Given the description of an element on the screen output the (x, y) to click on. 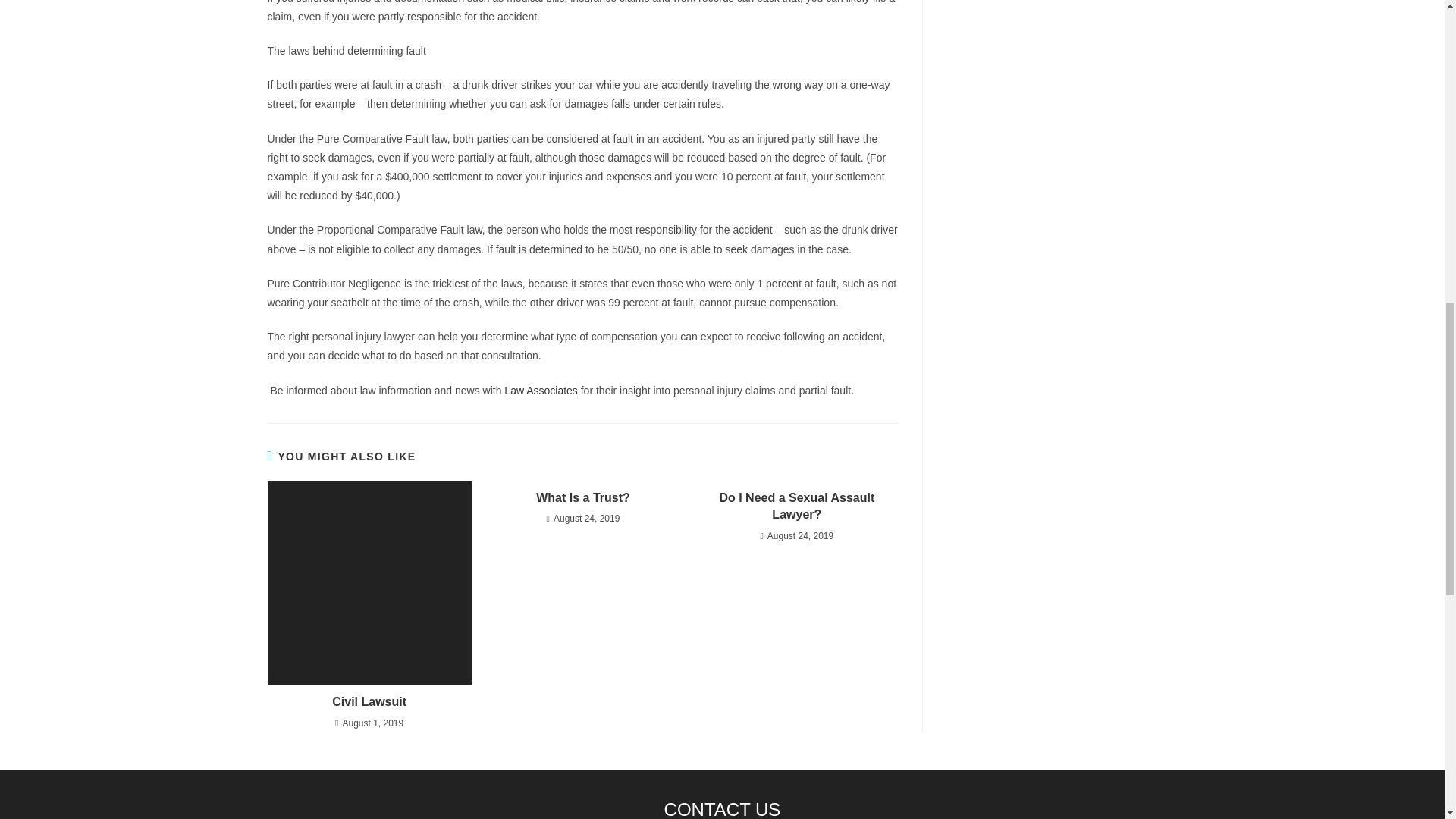
Law Associates (540, 389)
What Is a Trust? (582, 497)
Civil Lawsuit (368, 701)
Do I Need a Sexual Assault Lawyer? (796, 506)
